Given the description of an element on the screen output the (x, y) to click on. 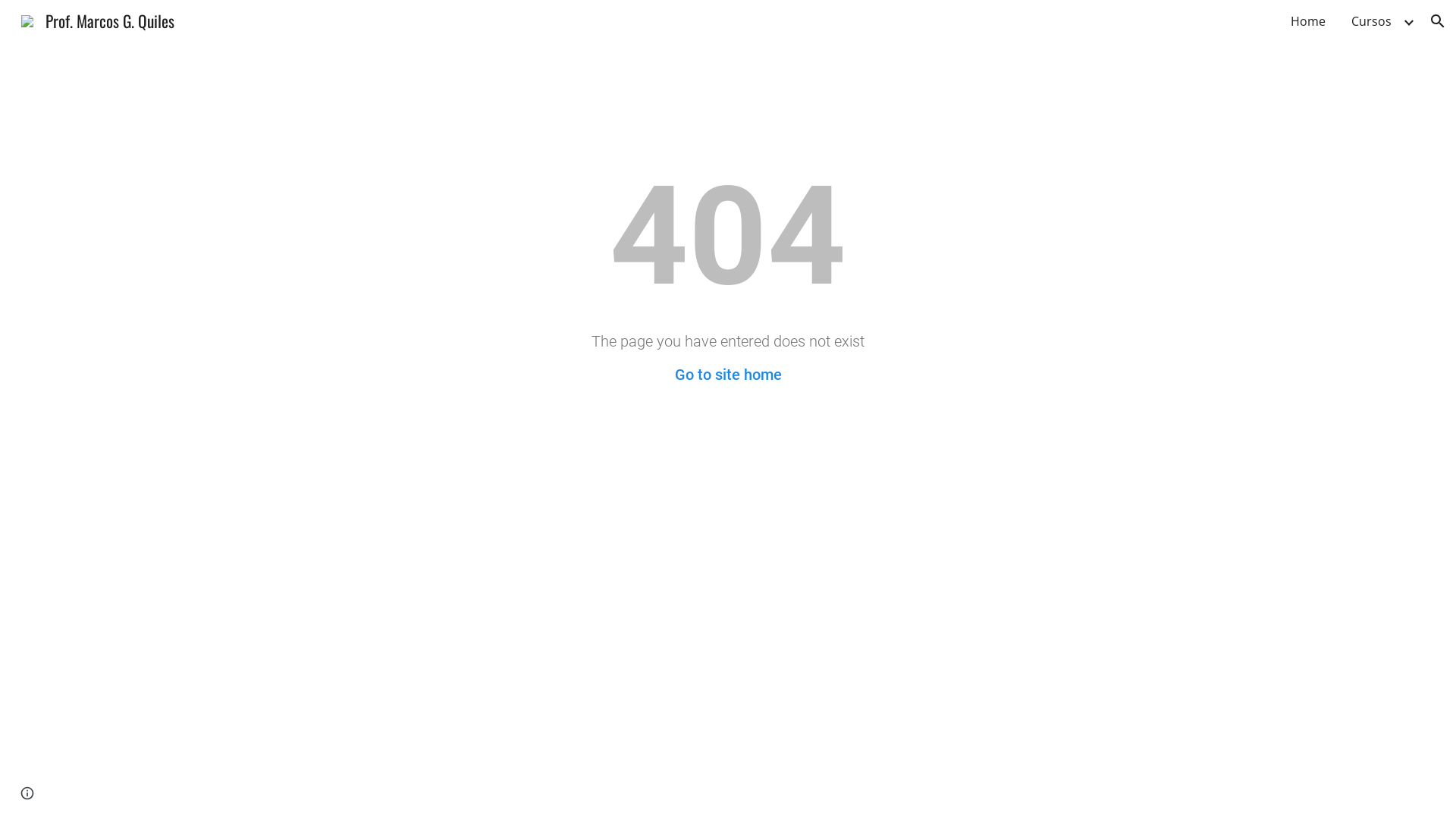
Home Element type: text (1308, 20)
Expand/Collapse Element type: hover (1408, 20)
Go to site home Element type: text (727, 374)
Prof. Marcos G. Quiles Element type: text (97, 18)
Cursos Element type: text (1371, 20)
